Given the description of an element on the screen output the (x, y) to click on. 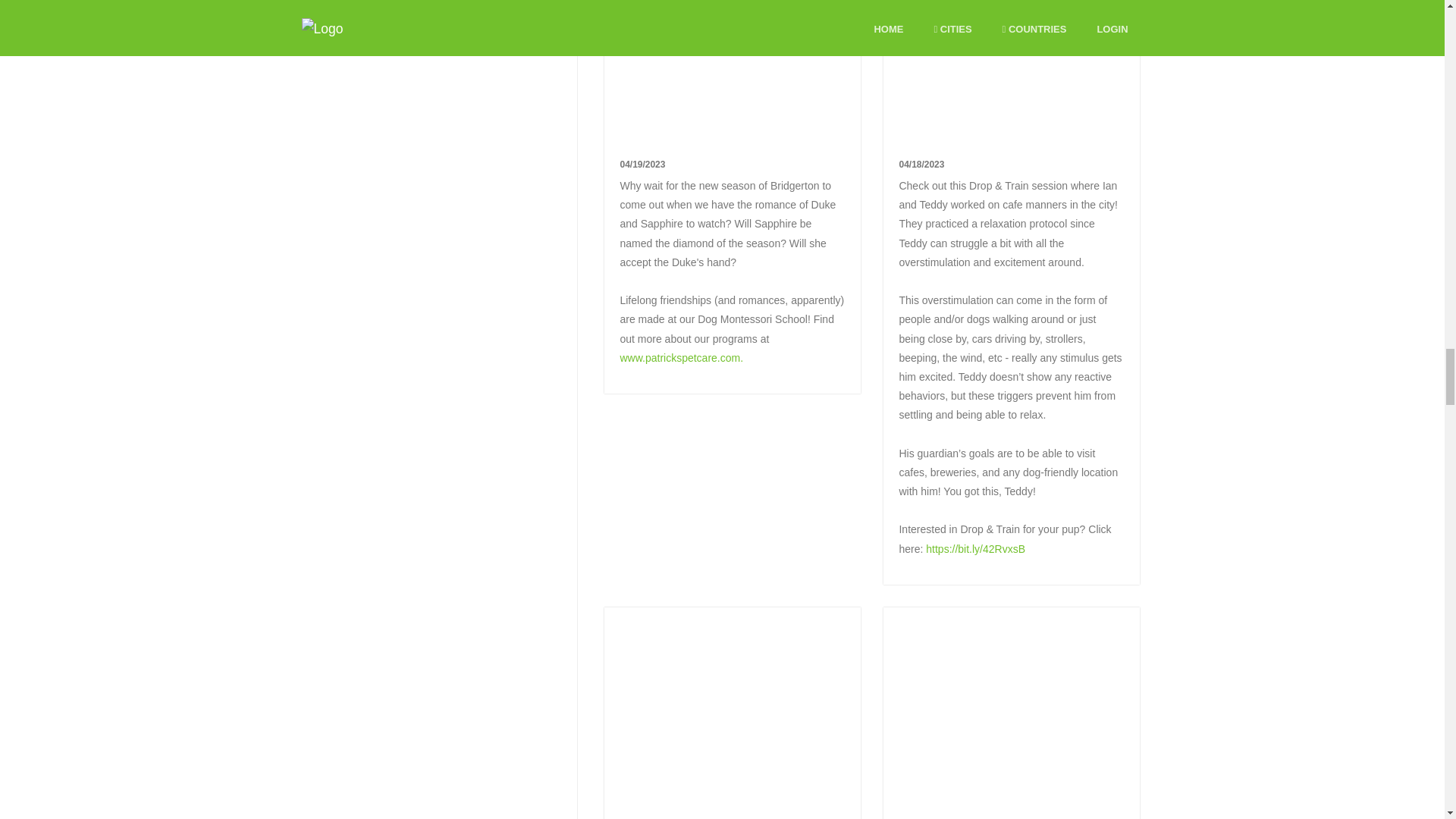
www.patrickspetcare.com. (681, 357)
